Given the description of an element on the screen output the (x, y) to click on. 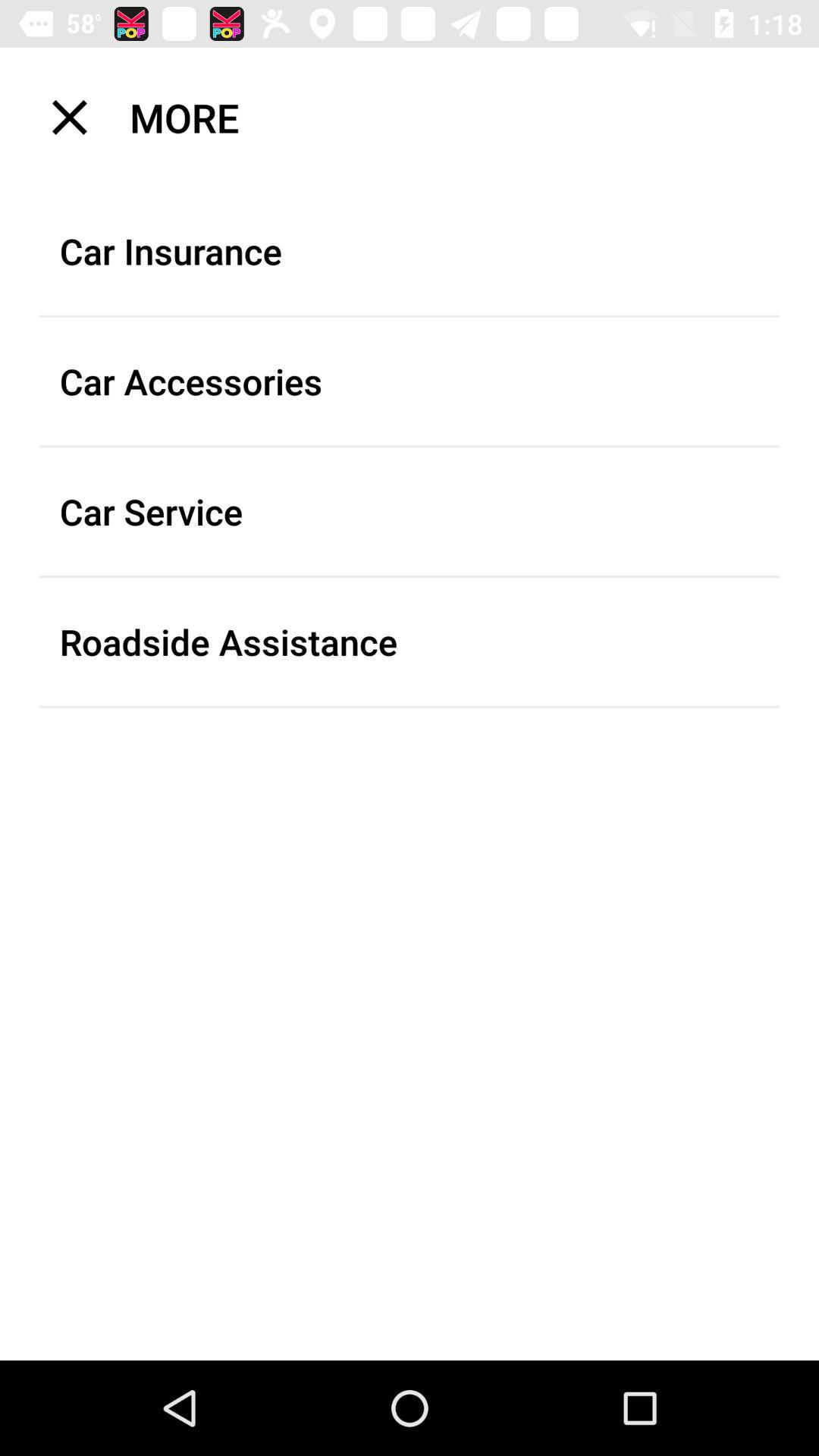
flip until the car insurance item (409, 251)
